Given the description of an element on the screen output the (x, y) to click on. 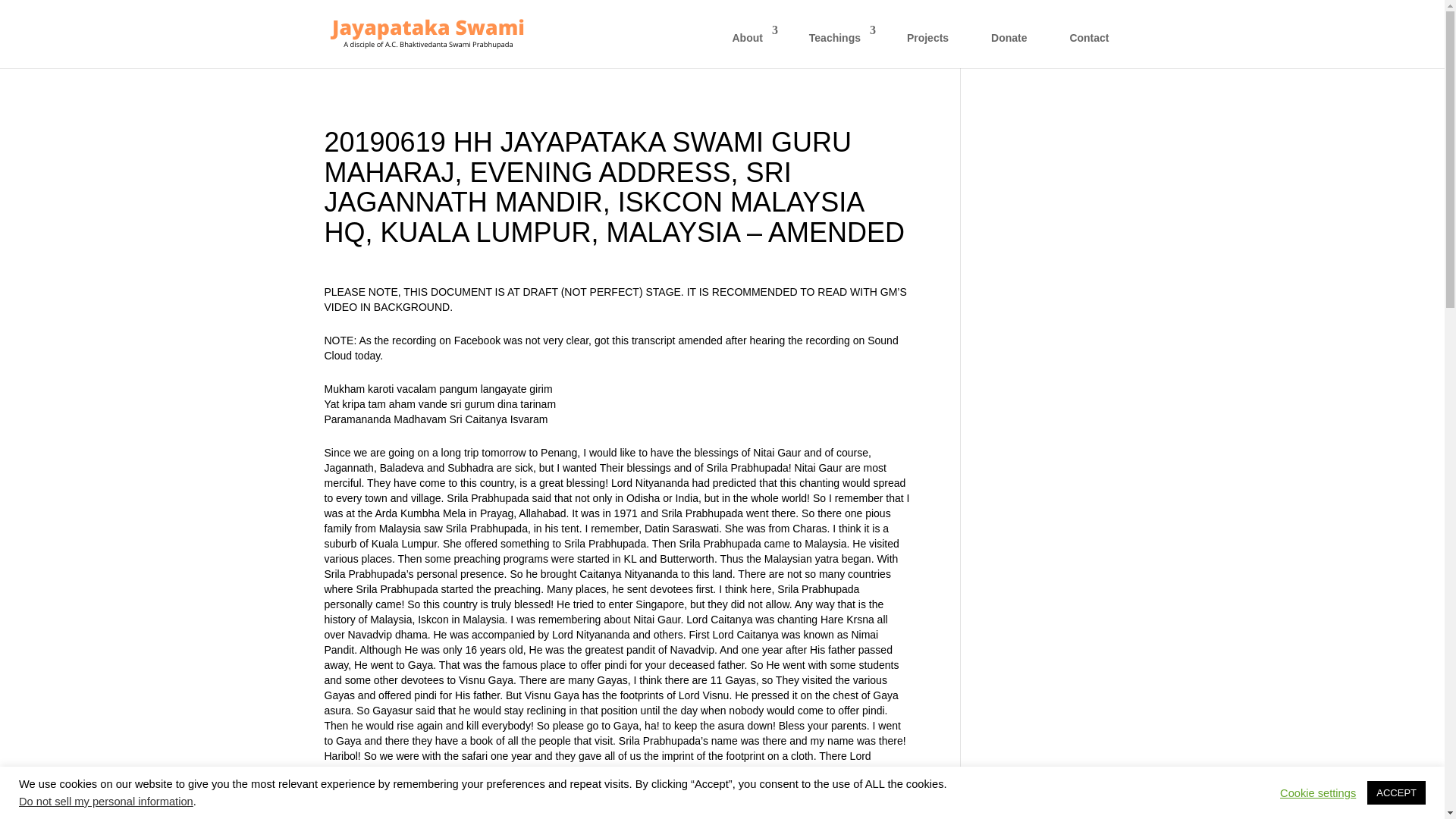
Projects (927, 46)
Teachings (836, 46)
ACCEPT (1396, 792)
About (748, 46)
Cookie settings (1317, 792)
Contact (1088, 46)
Do not sell my personal information (105, 801)
Donate (1008, 46)
